Given the description of an element on the screen output the (x, y) to click on. 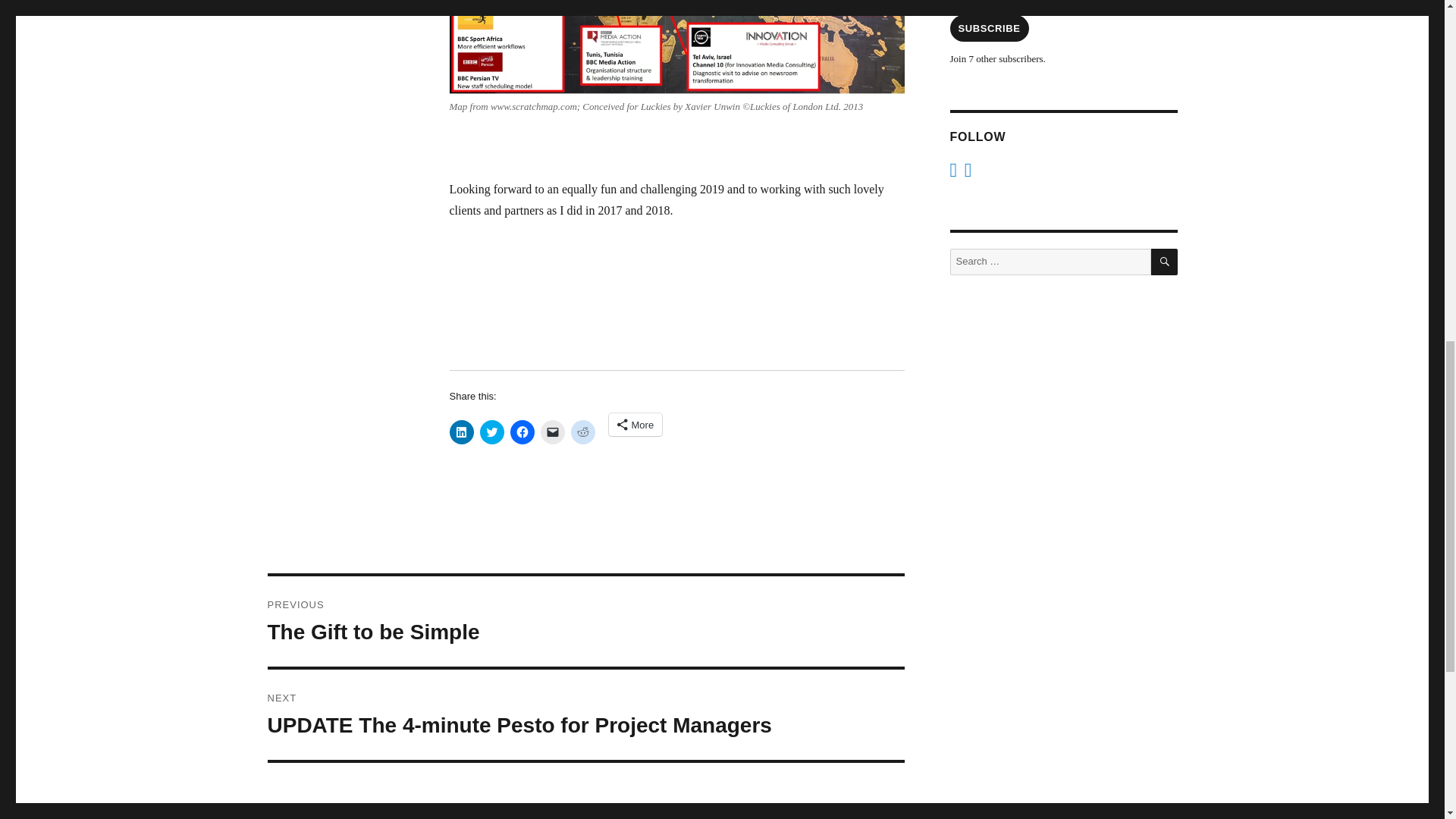
More (635, 424)
Click to share on Reddit (582, 432)
Click to email a link to a friend (552, 432)
SUBSCRIBE (988, 28)
Click to share on LinkedIn (460, 432)
Click to share on Facebook (521, 432)
Click to share on Twitter (491, 432)
